Given the description of an element on the screen output the (x, y) to click on. 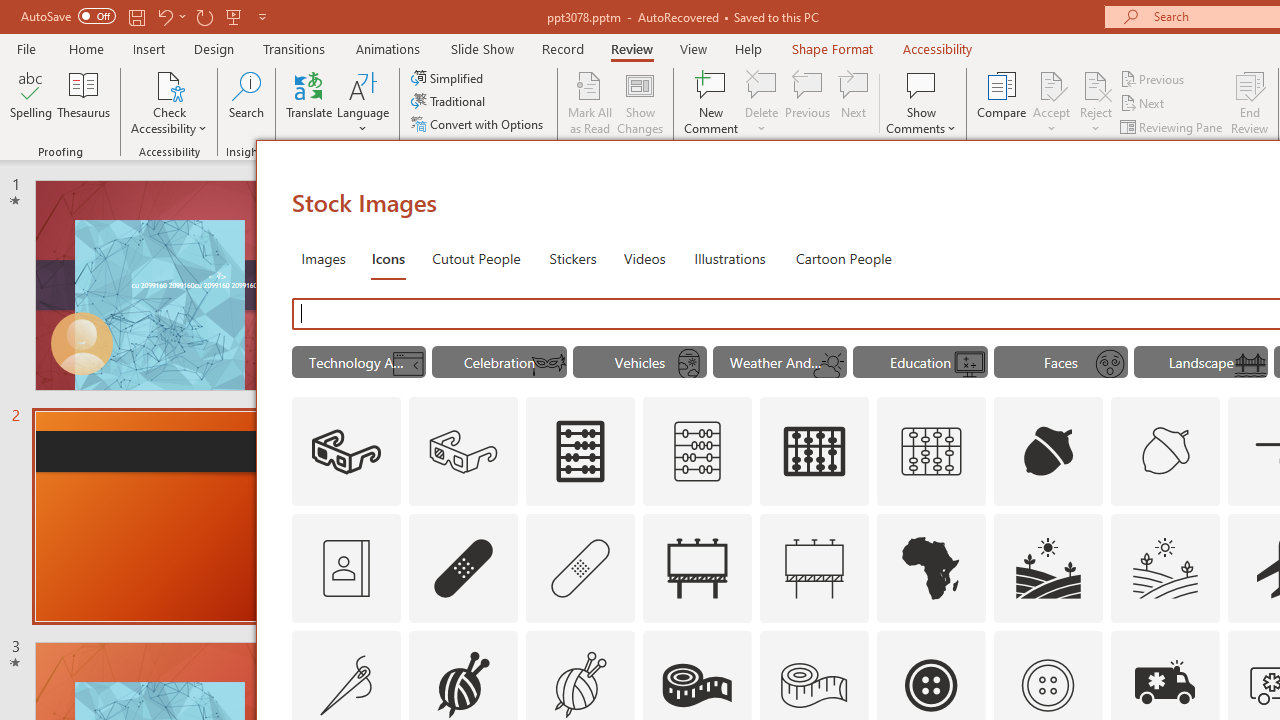
Spelling... (31, 102)
New Comment (711, 102)
AutomationID: Icons_RemoteLearningMath_M (970, 364)
Icons (388, 258)
AutomationID: Icons_Acorn (1048, 452)
